Given the description of an element on the screen output the (x, y) to click on. 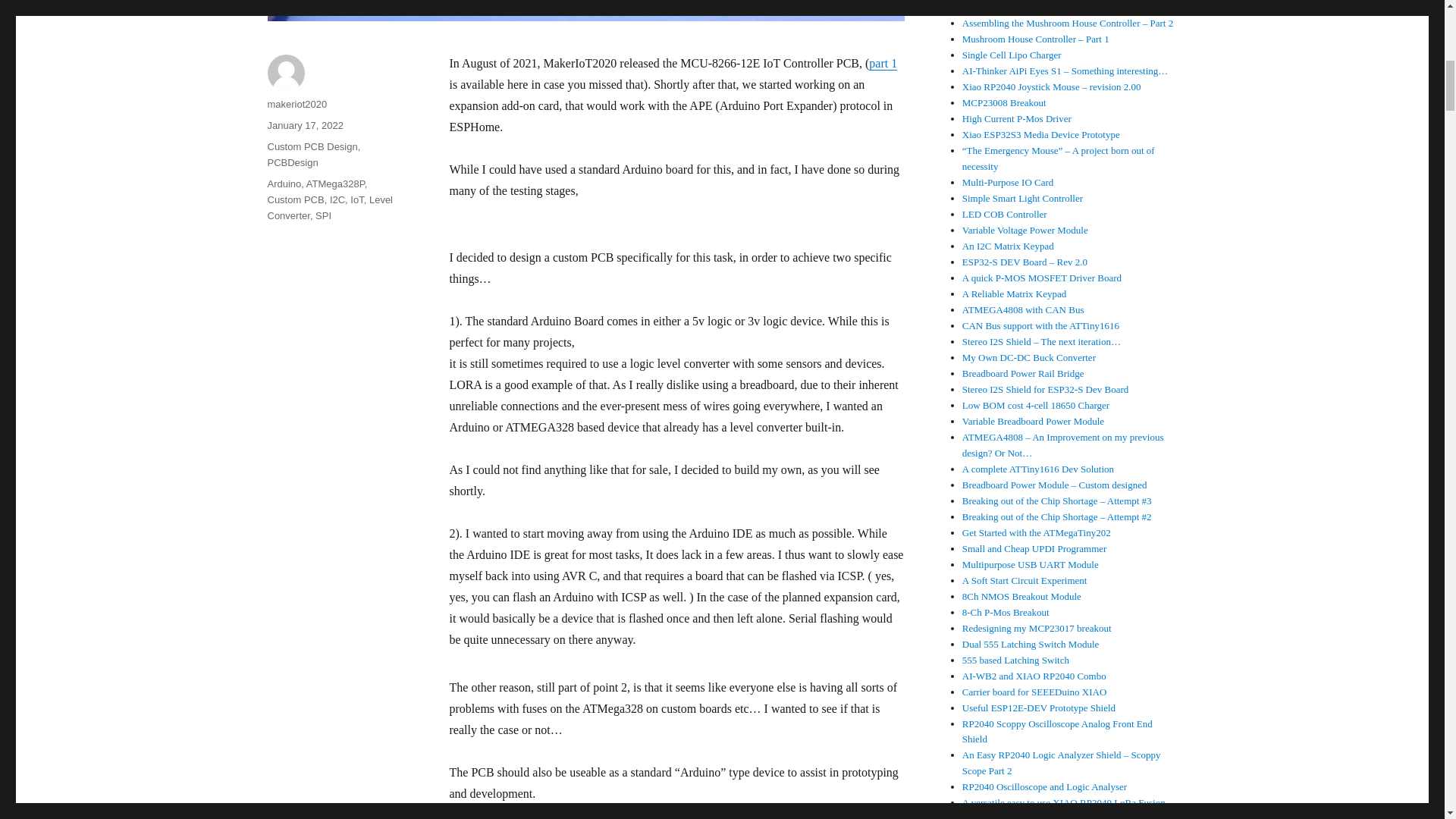
SPI (323, 215)
part 1 (882, 62)
I2C (337, 199)
PCBDesign (291, 162)
January 17, 2022 (304, 125)
Arduino (283, 183)
Custom PCB Design (311, 146)
Custom PCB (294, 199)
Level Converter (329, 207)
ATMega328P (335, 183)
makeriot2020 (296, 103)
IoT (356, 199)
